Given the description of an element on the screen output the (x, y) to click on. 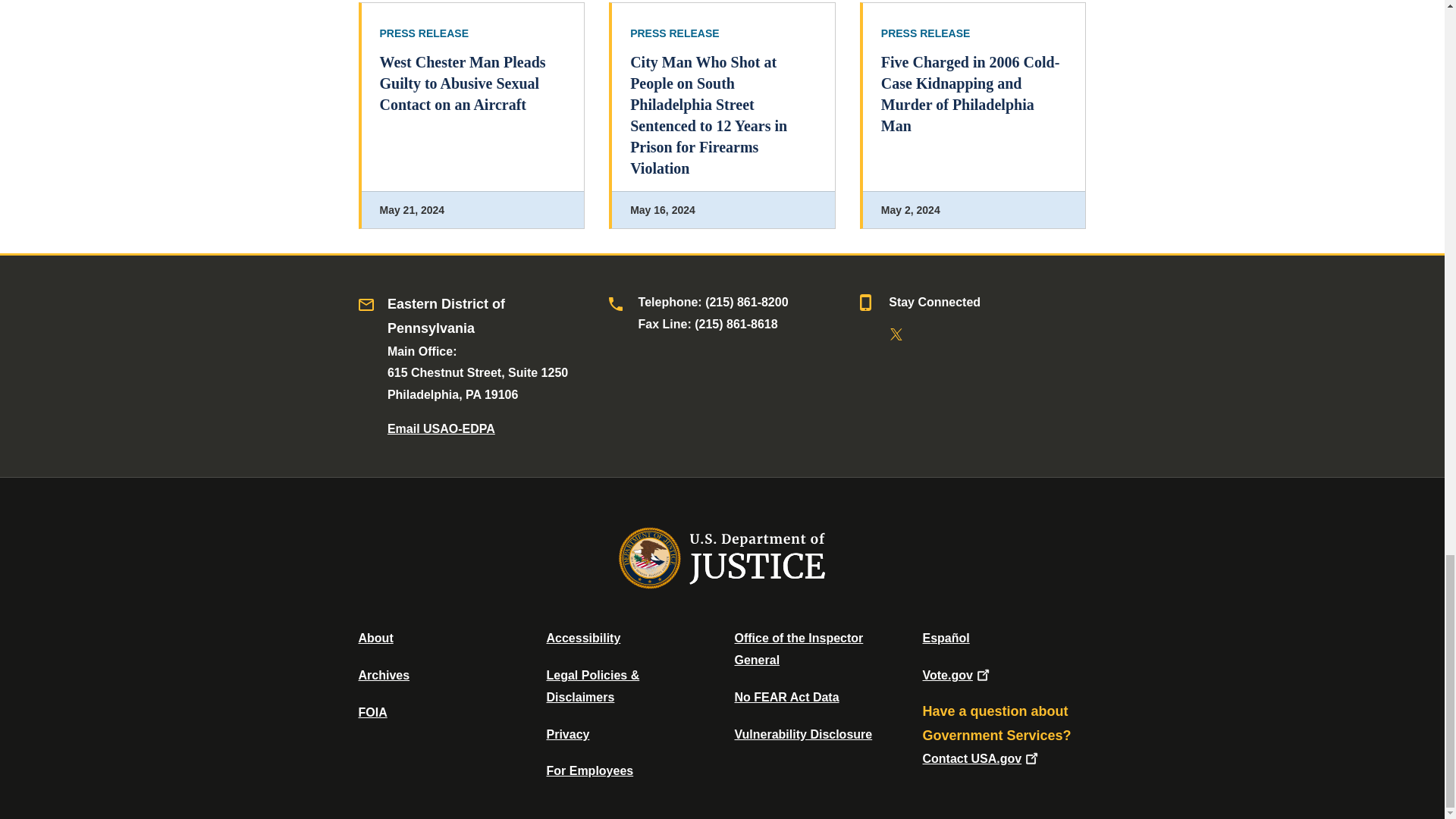
Data Posted Pursuant To The No Fear Act (785, 697)
Legal Policies and Disclaimers (592, 686)
Accessibility Statement (583, 637)
Office of Information Policy (372, 712)
For Employees (589, 770)
About DOJ (375, 637)
Department of Justice Archive (383, 675)
